Given the description of an element on the screen output the (x, y) to click on. 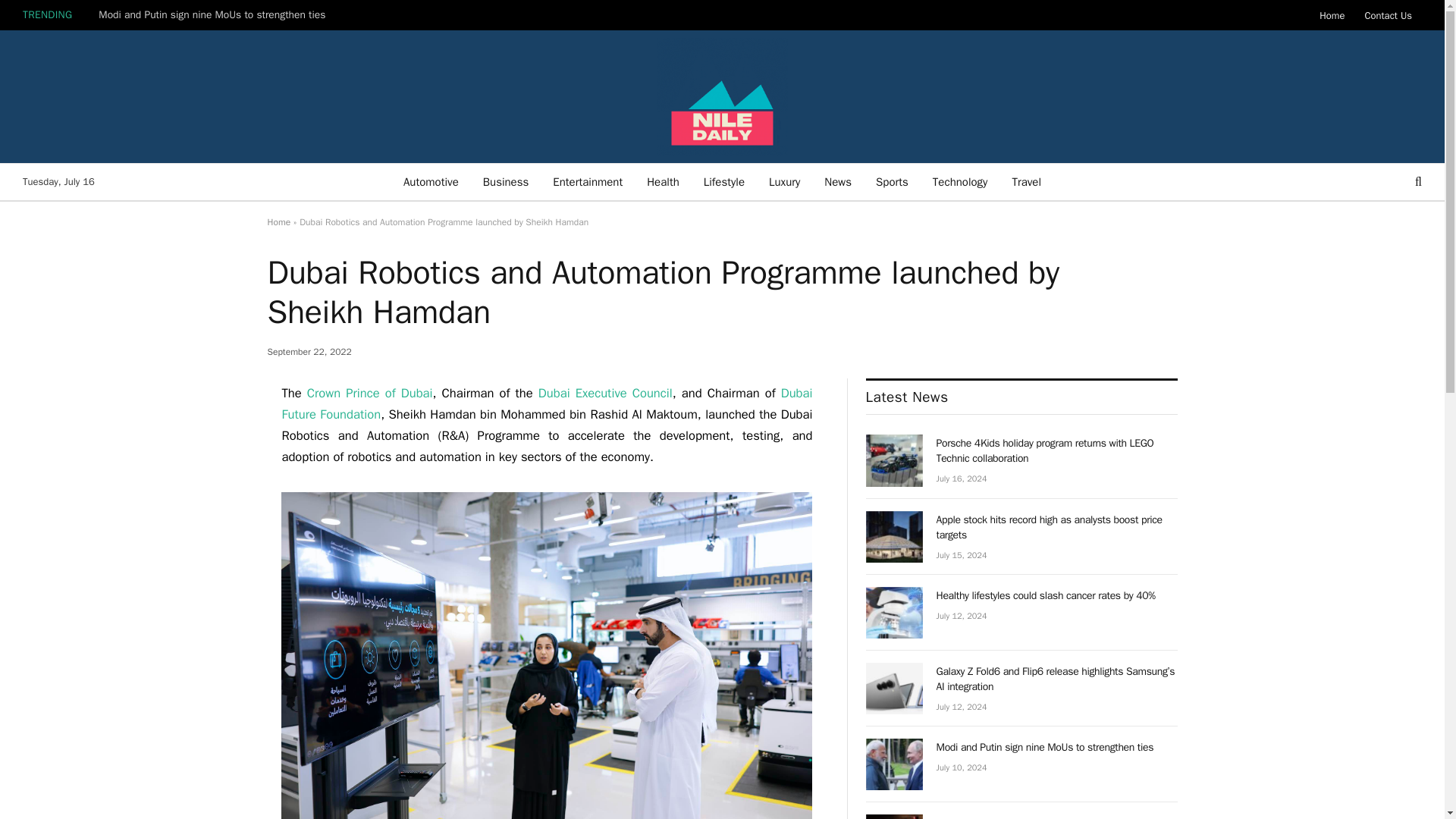
Luxury (784, 181)
Travel (1025, 181)
Technology (960, 181)
Search (1417, 182)
Dubai Executive Council (605, 392)
Apple stock hits record high as analysts boost price targets (894, 536)
News (837, 181)
Lifestyle (724, 181)
Dubai Future Foundation (546, 403)
Entertainment (587, 181)
Home (1331, 15)
Health (662, 181)
Modi and Putin sign nine MoUs to strengthen ties (216, 15)
Nile Daily (722, 96)
Home (277, 222)
